Given the description of an element on the screen output the (x, y) to click on. 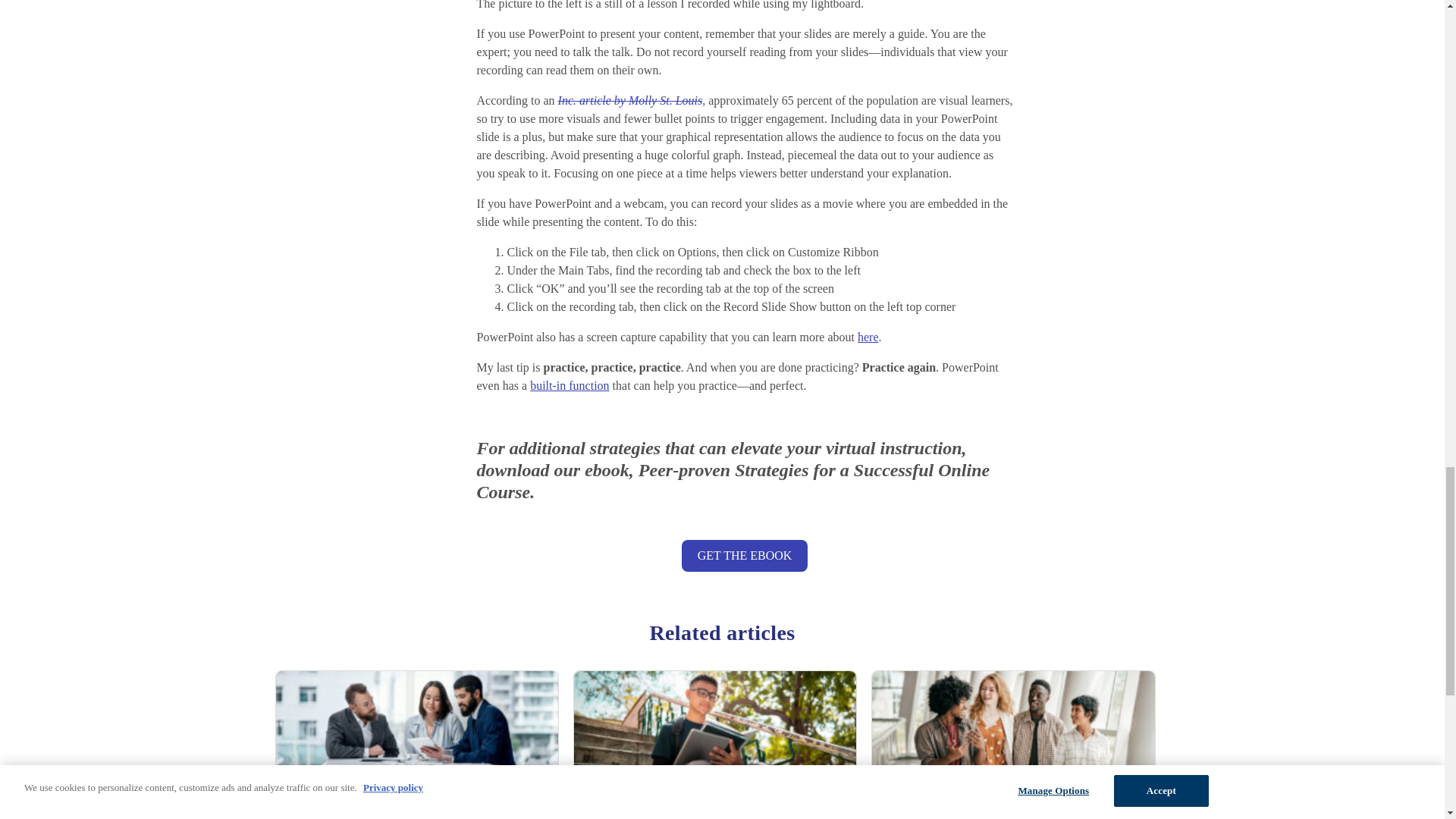
here (868, 336)
built-in function (568, 385)
GET THE EBOOK (743, 555)
Inc. article by Molly St. Louis (630, 100)
